Given the description of an element on the screen output the (x, y) to click on. 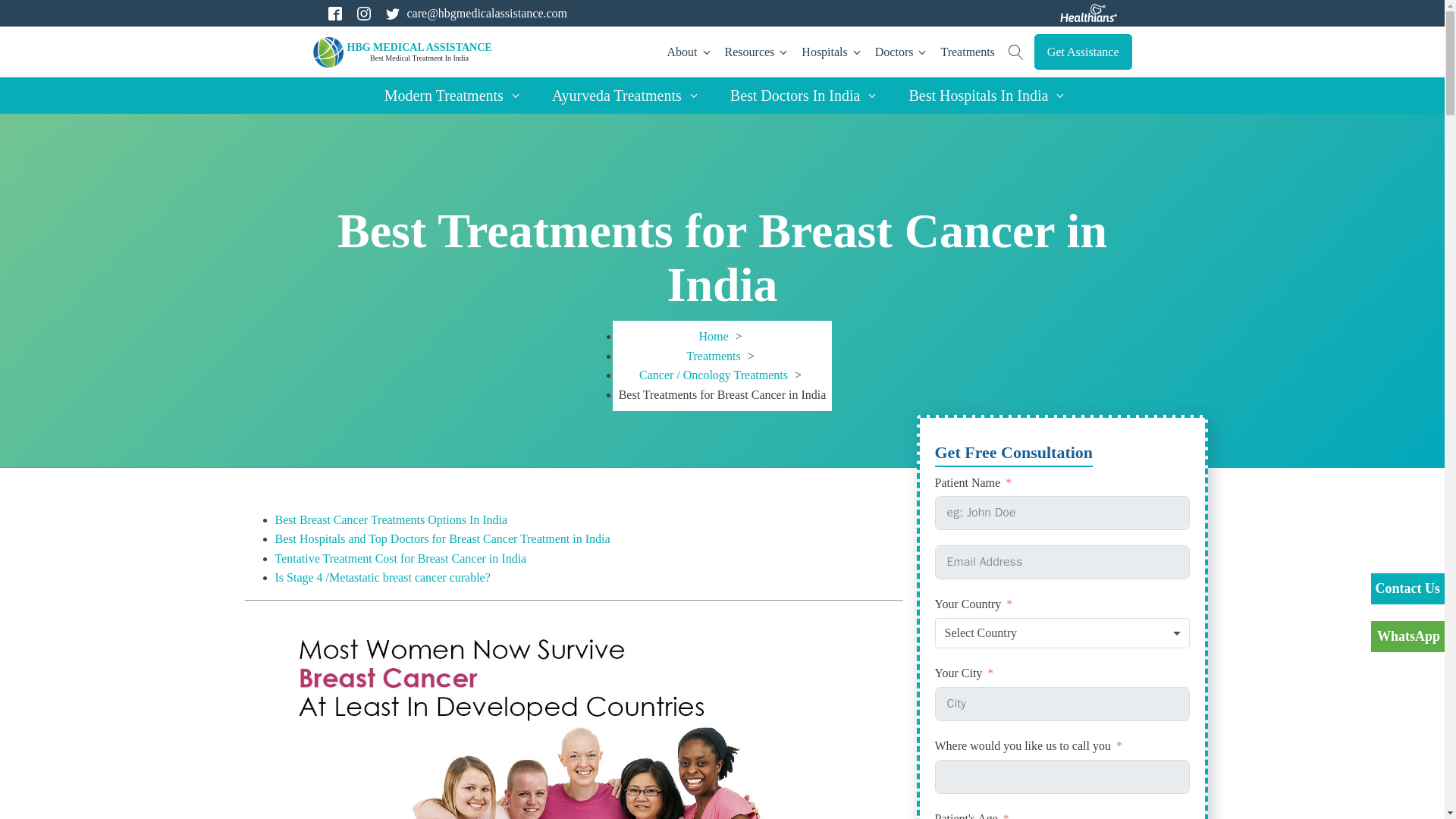
Best Breast Cancer Treatments Options In India (390, 519)
Treatments (404, 51)
Treatments (712, 355)
Home (965, 51)
Search (713, 336)
Get Assistance (25, 9)
